Given the description of an element on the screen output the (x, y) to click on. 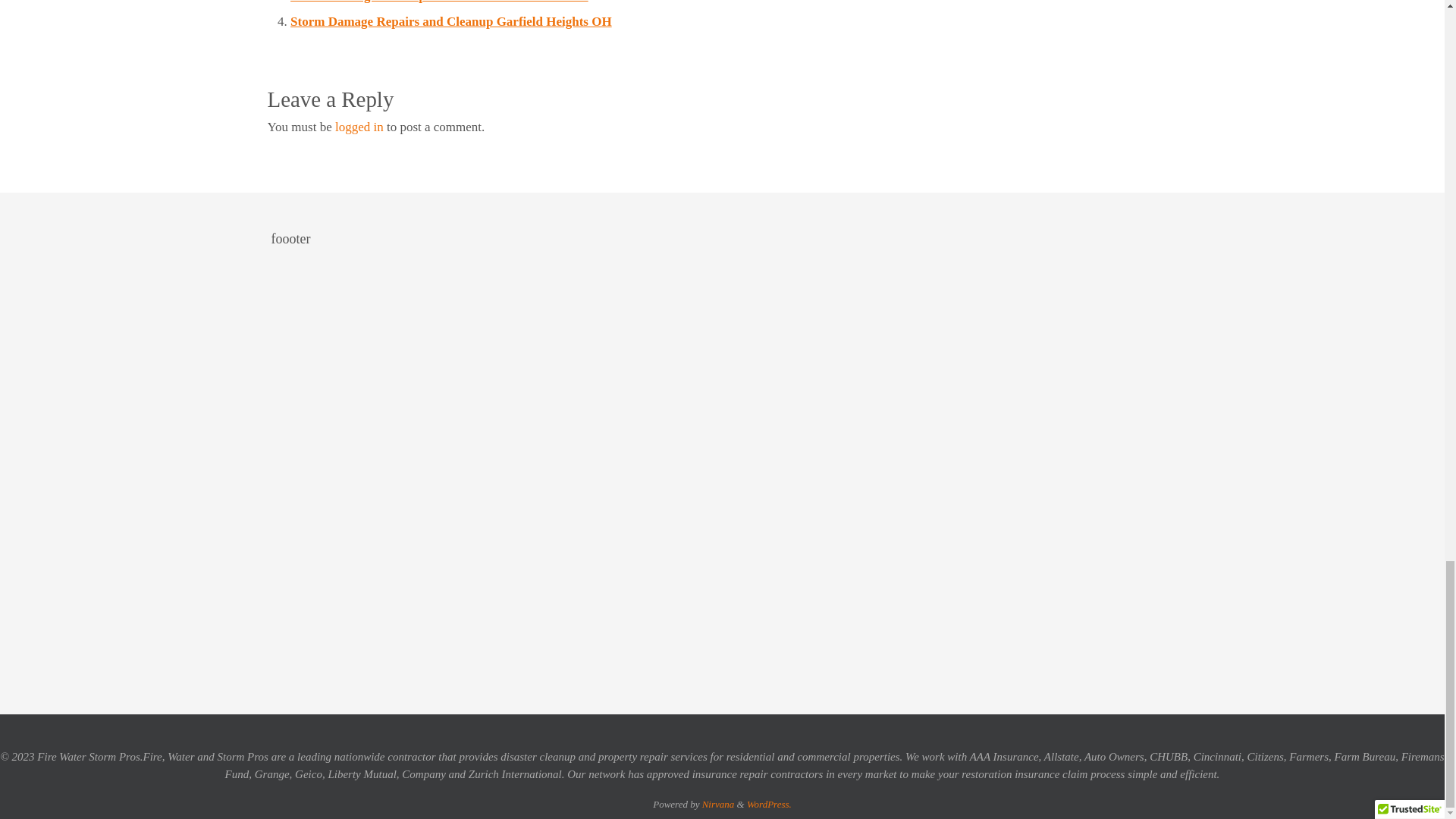
DMCA.com Protection Status (954, 660)
Semantic Personal Publishing Platform (769, 803)
Nirvana Theme by Cryout Creations (718, 803)
Storm Damage Repairs and Cleanup Garfield Heights OH (450, 21)
logged in (359, 126)
Storm Damage Repairs and Cleanup Garfield Heights OH (450, 21)
